Given the description of an element on the screen output the (x, y) to click on. 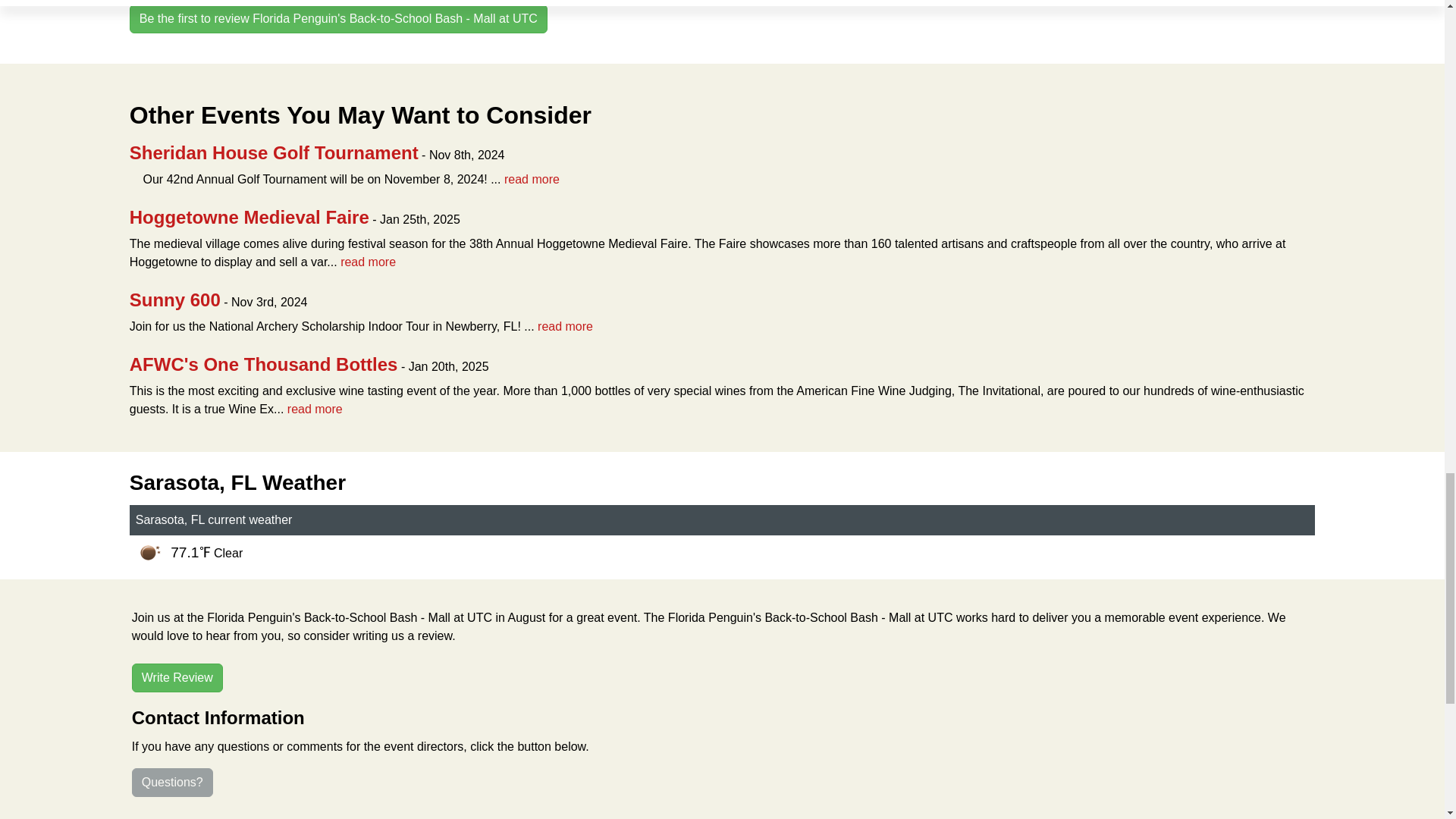
Questions? (172, 782)
read more (314, 408)
read more (564, 326)
read more (531, 178)
Sunny 600 (175, 299)
Sheridan House Golf Tournament (274, 152)
Write Review (177, 677)
AFWC's One Thousand Bottles (263, 363)
Hoggetowne Medieval Faire (249, 217)
read more (368, 261)
